Given the description of an element on the screen output the (x, y) to click on. 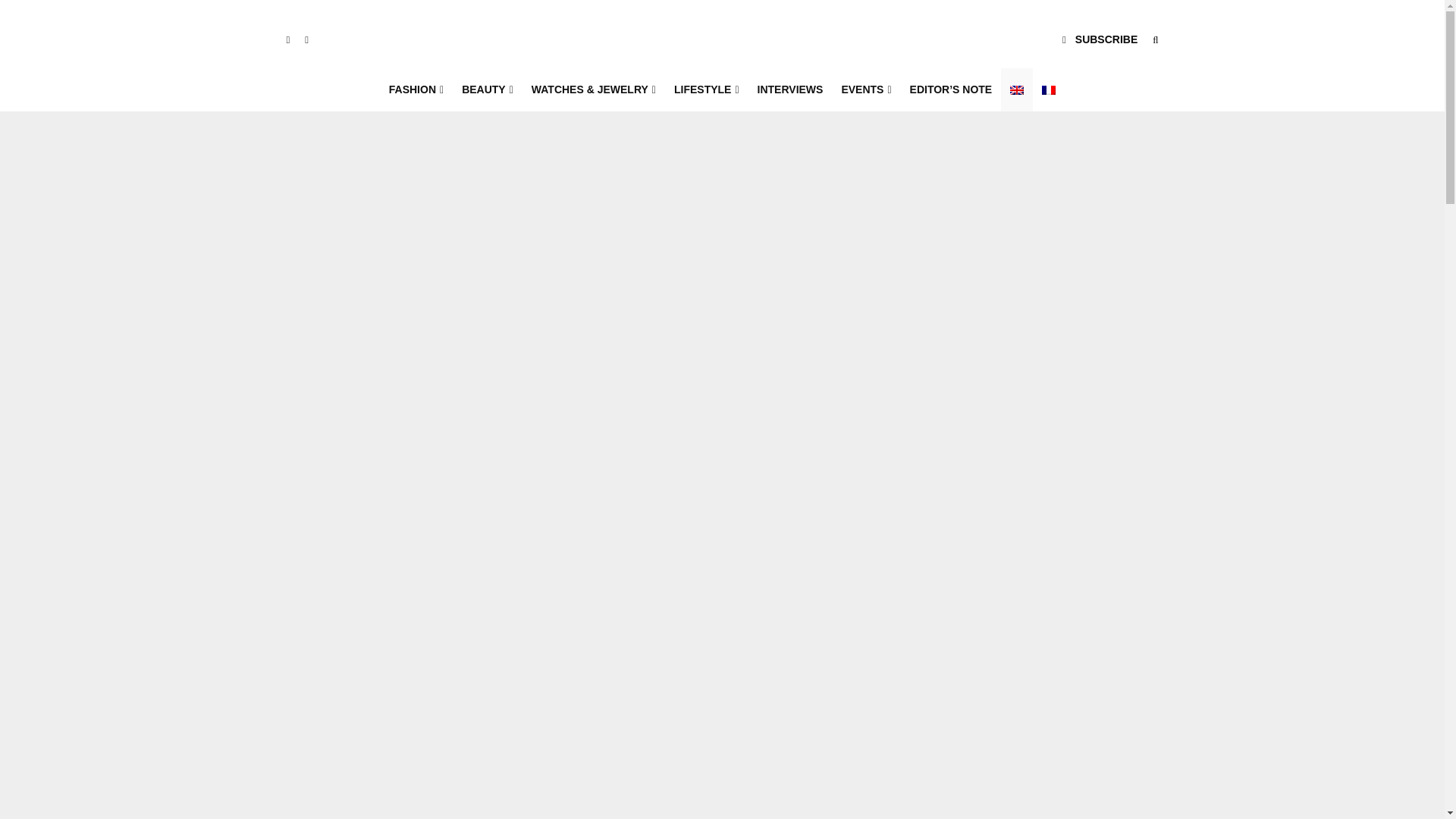
BEAUTY (487, 89)
FASHION (416, 89)
SUBSCRIBE (1099, 39)
